Given the description of an element on the screen output the (x, y) to click on. 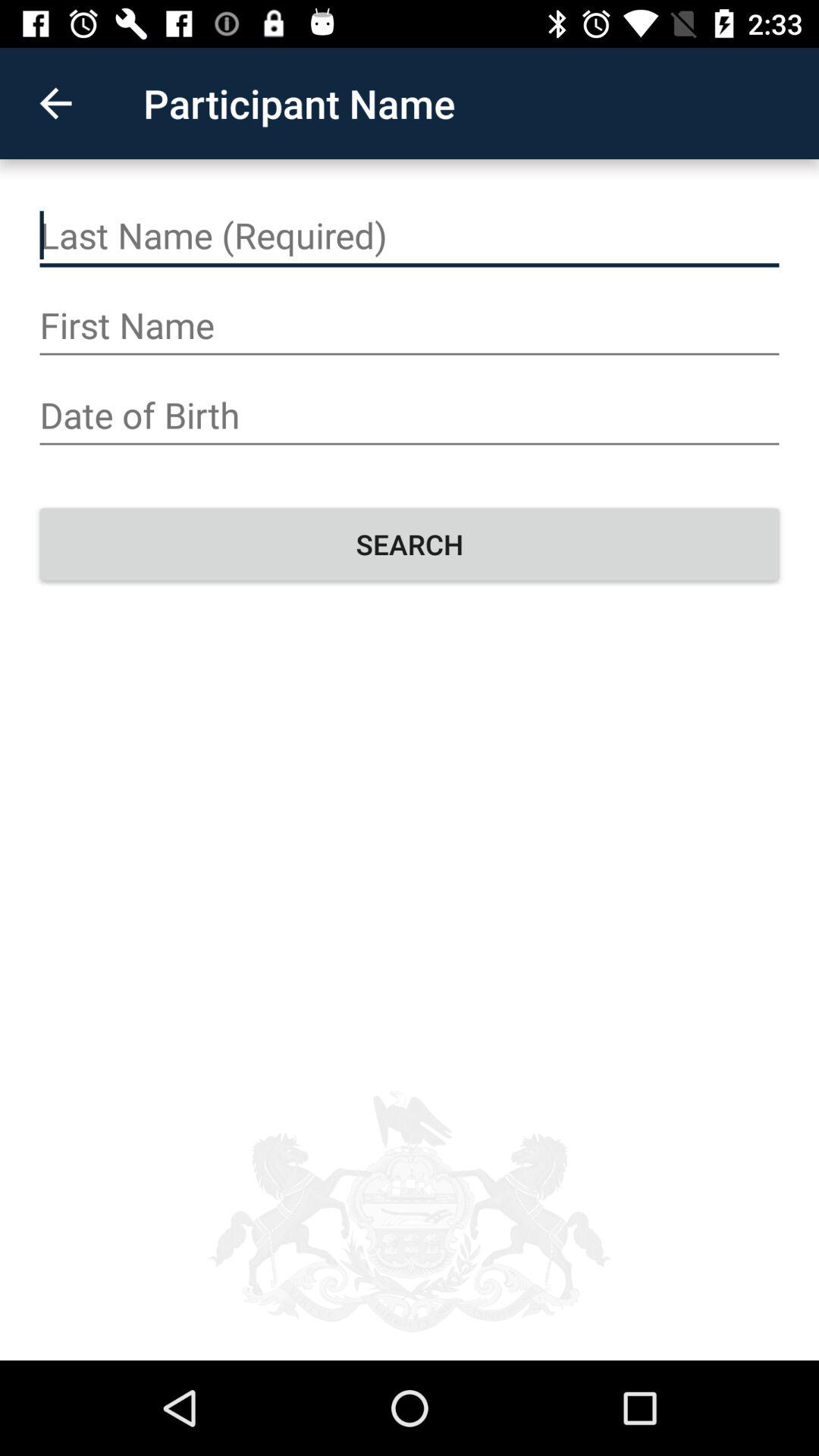
enter date of birth (409, 415)
